Given the description of an element on the screen output the (x, y) to click on. 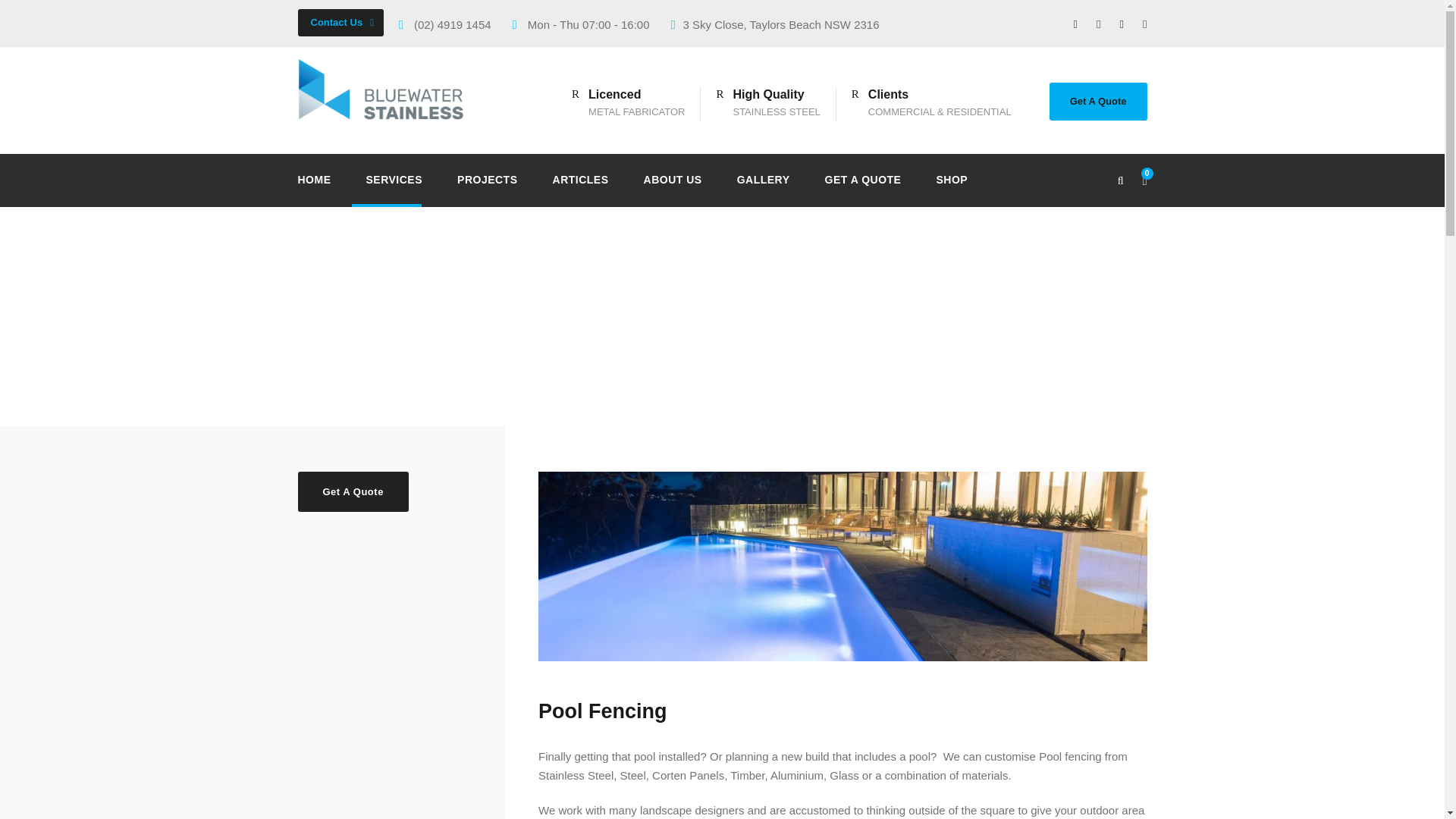
pool-fencing (842, 565)
Bluewater-Stainless-Header-Logo (388, 88)
